Given the description of an element on the screen output the (x, y) to click on. 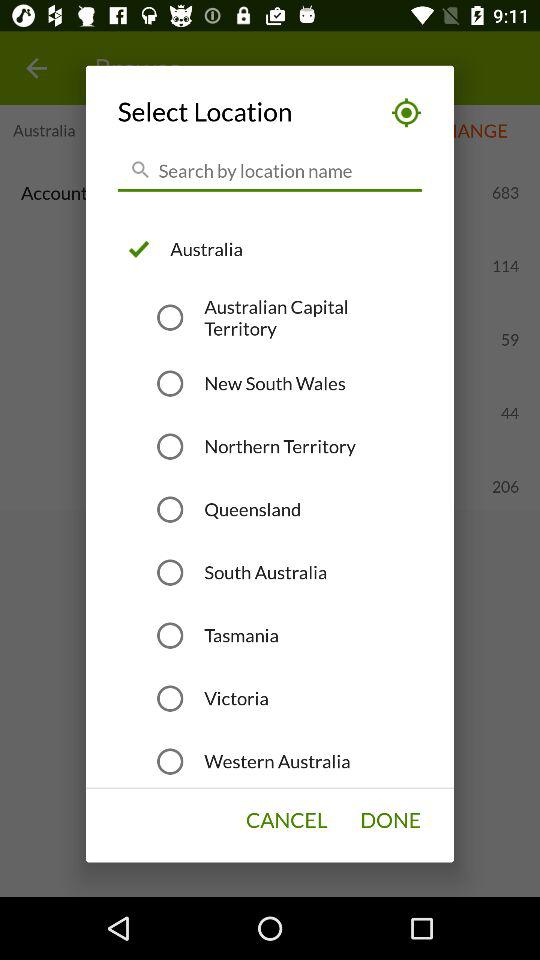
click icon above victoria icon (241, 635)
